Given the description of an element on the screen output the (x, y) to click on. 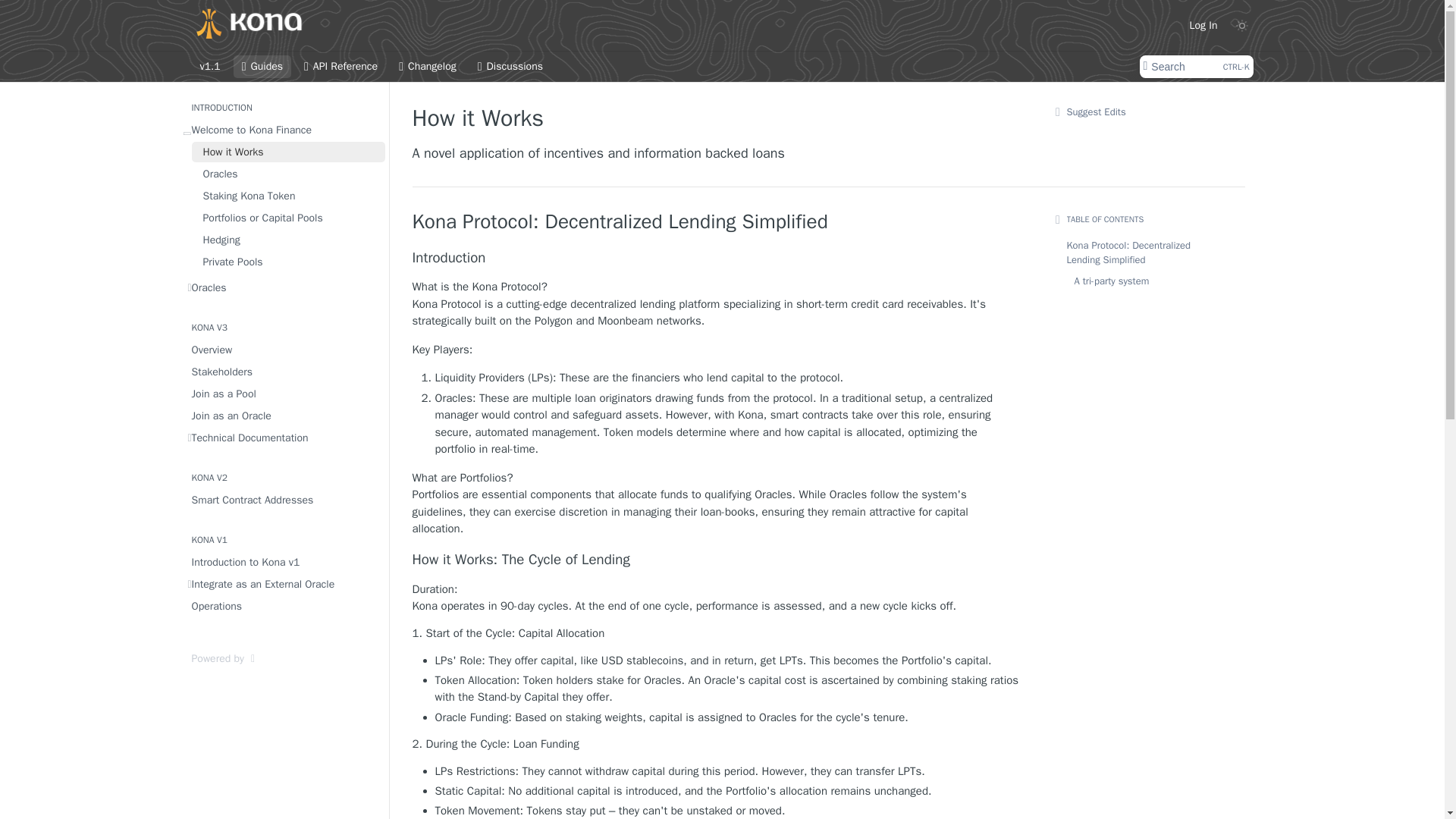
API Reference (340, 66)
Join as an Oracle (1195, 66)
Overview (282, 415)
Discussions (282, 349)
1. Start of the Cycle: Capital Allocation (509, 66)
Introduction (715, 633)
2. During the Cycle: Loan Funding (715, 257)
Guides (715, 744)
Kona Protocol: Decentralized Lending Simplified (261, 66)
Staking Kona Token (715, 222)
Join as a Pool (287, 195)
Private Pools (282, 394)
Changelog (287, 261)
Oracles (427, 66)
